Given the description of an element on the screen output the (x, y) to click on. 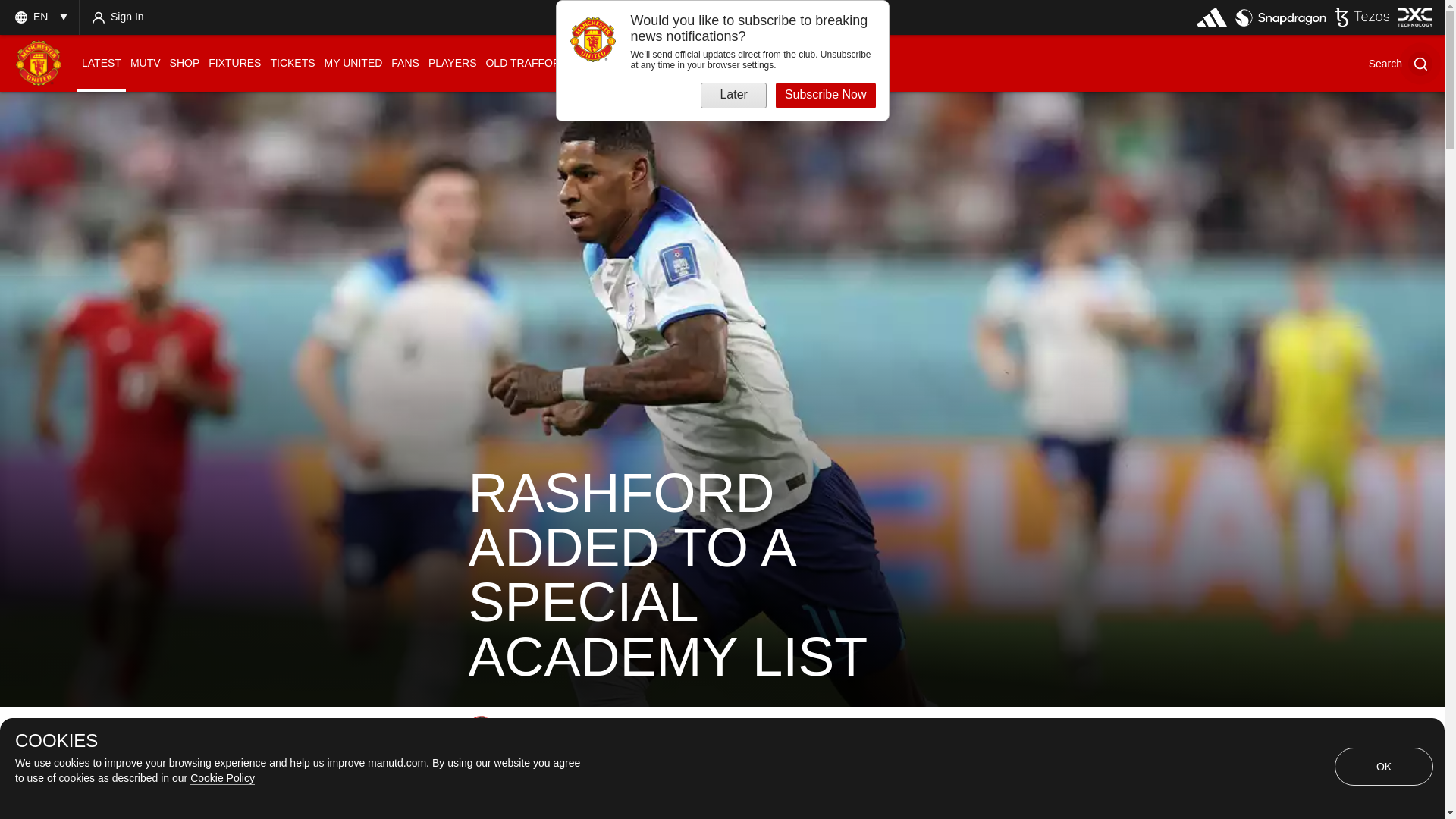
OK (1383, 766)
Cookie Policy (222, 778)
ManUtd.com reporter Adam Marshall at Old Trafford. (480, 727)
Subscribe Now (826, 95)
Later (732, 95)
